Given the description of an element on the screen output the (x, y) to click on. 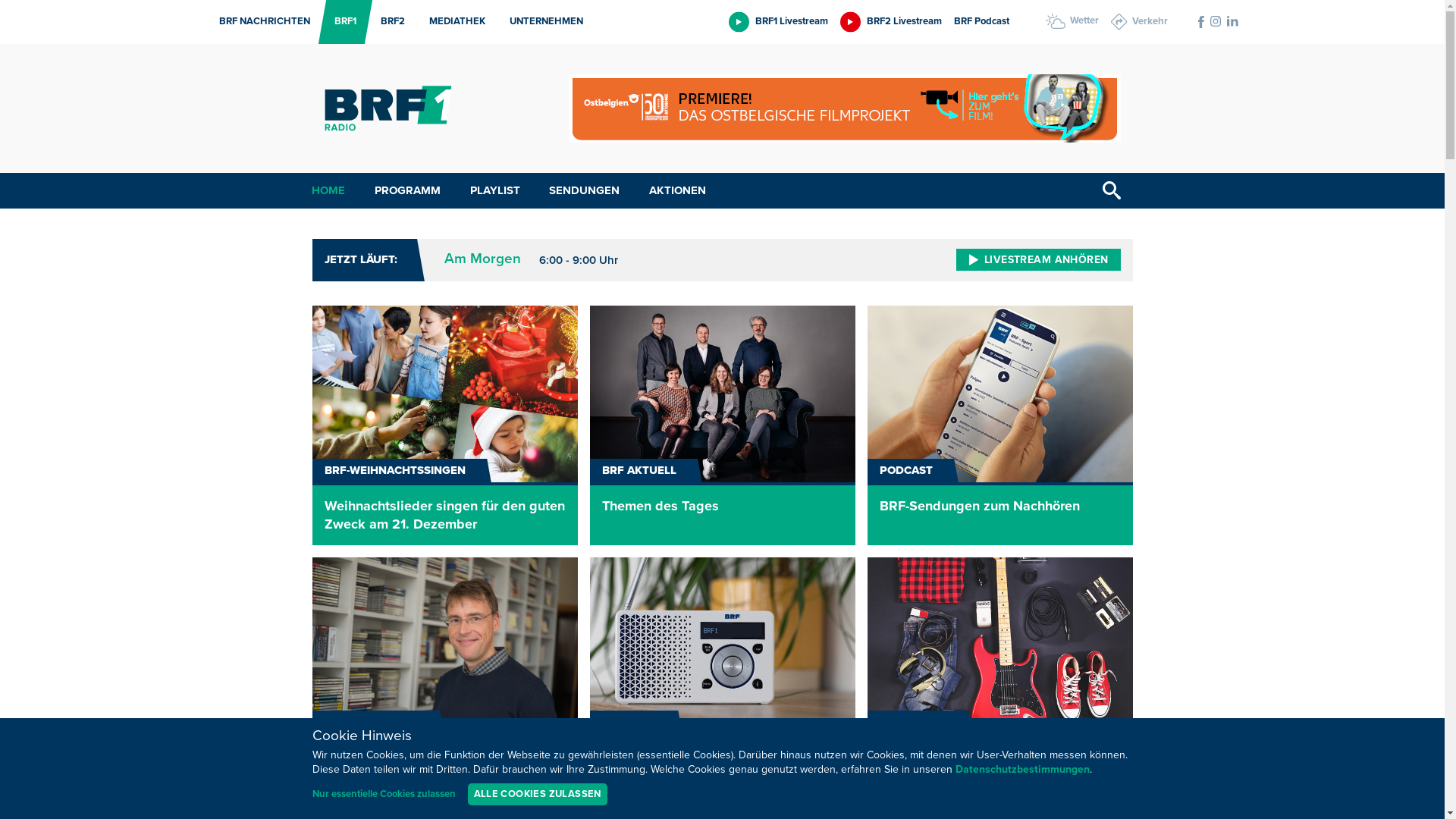
BRF NACHRICHTEN Element type: text (259, 21)
Verkehr Element type: text (1138, 21)
Suchen Element type: hover (1111, 190)
UNTERNEHMEN Element type: text (541, 21)
BRF1 Livestream Element type: text (777, 21)
BRF2 Element type: text (388, 21)
Wetter Element type: text (1071, 20)
AKTIONEN Element type: text (677, 190)
Nach oben Element type: text (1427, 777)
Datenschutzbestimmungen Element type: text (1022, 769)
SENDUNGEN Element type: text (583, 190)
BRF2 Livestream Element type: text (890, 21)
BRF1 Element type: text (340, 21)
HOME Element type: text (328, 190)
BRF Podcast Element type: text (981, 21)
OLDIESHOW
Musik der 50er, 60er, 70er und 80er Jahre Element type: text (999, 677)
PLAYLIST Element type: text (495, 190)
BRF AKTUELL
Themen des Tages Element type: text (722, 425)
BRF1-HITPARADE
Ihre Top 40 Element type: text (444, 677)
MEDIATHEK Element type: text (452, 21)
Nur essentielle Cookies zulassen Element type: text (383, 794)
ALLE COOKIES ZULASSEN Element type: text (536, 794)
PROGRAMM Element type: text (407, 190)
